Given the description of an element on the screen output the (x, y) to click on. 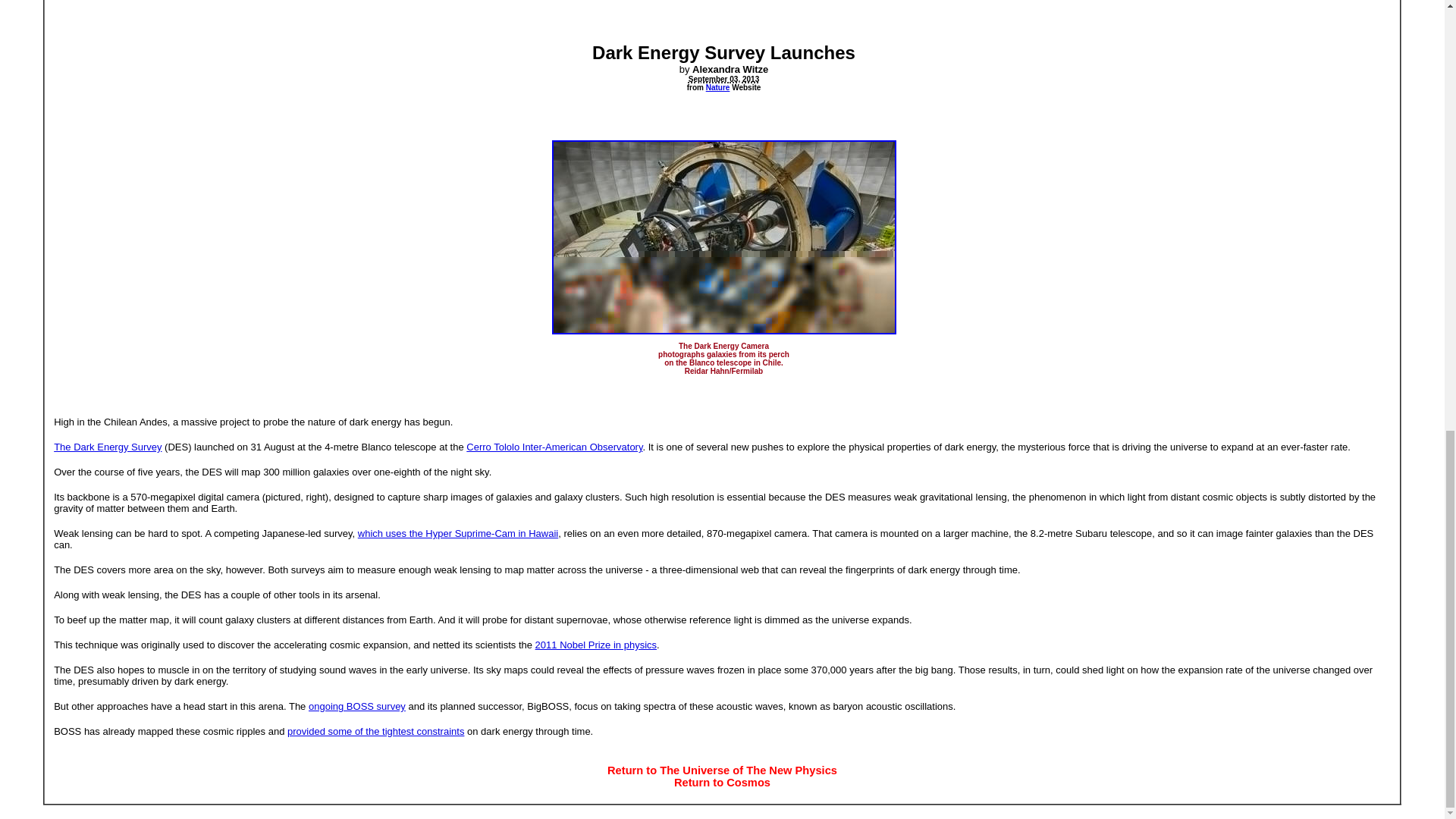
2013-09-03 (750, 77)
2013-09-03 (735, 77)
The Dark Energy Survey (107, 445)
Return to Cosmos (722, 781)
Cerro Tololo Inter-American Observatory (553, 446)
ongoing BOSS survey (357, 706)
Nature (718, 87)
Return to The Universe of The New Physics (722, 770)
provided some of the tightest constraints (375, 731)
Dark Energy Survey Launches (724, 52)
2013-09-03 (708, 77)
which uses the Hyper Suprime-Cam in Hawaii (457, 532)
2011 Nobel Prize in physics (595, 644)
